Given the description of an element on the screen output the (x, y) to click on. 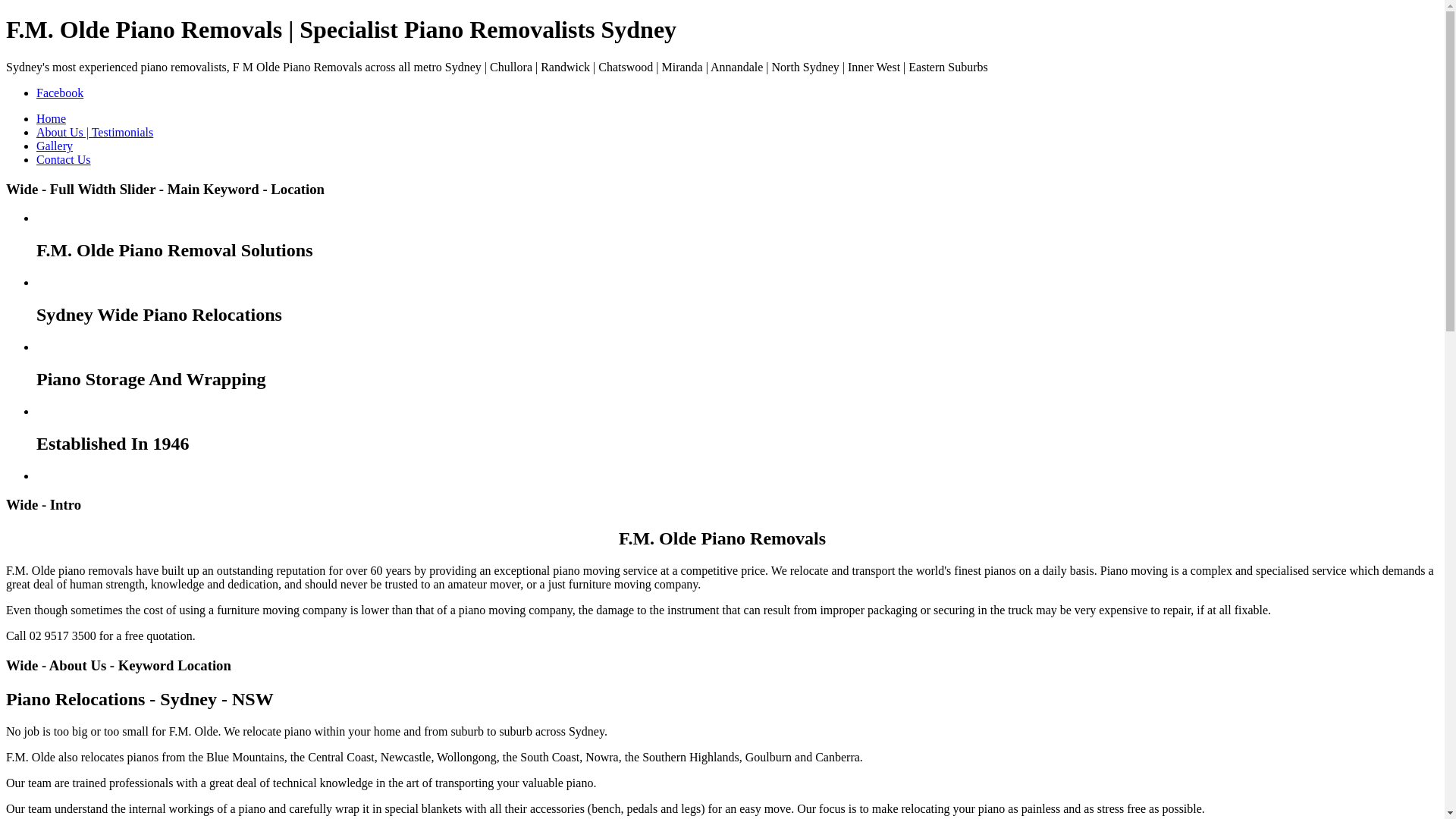
Contact Us Element type: text (63, 159)
Home Element type: text (50, 118)
About Us | Testimonials Element type: text (94, 131)
Facebook Element type: text (59, 92)
Gallery Element type: text (54, 145)
